Given the description of an element on the screen output the (x, y) to click on. 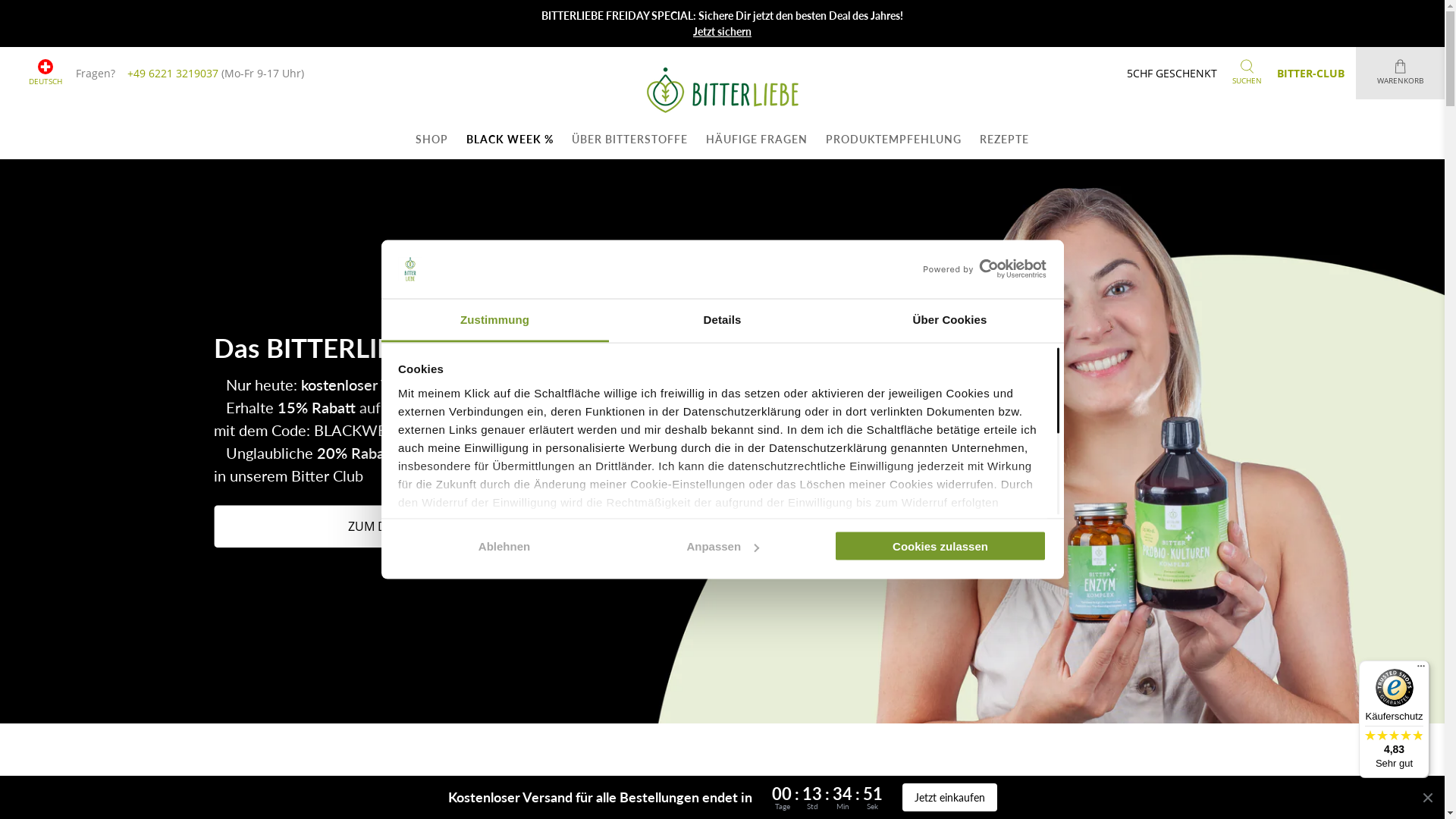
BitterLiebe CH Element type: hover (721, 89)
Cookies zulassen Element type: text (940, 545)
Anpassen Element type: text (721, 545)
PRODUKTEMPFEHLUNG Element type: text (893, 139)
BITTER-CLUB Element type: text (1310, 73)
SUCHEN Element type: text (1246, 73)
Transparenzdokument Element type: text (930, 611)
BLACK WEEK % Element type: text (509, 139)
ZUM DEAL Element type: text (376, 526)
SHOP Element type: text (431, 139)
Ablehnen Element type: text (504, 545)
DEUTSCH Element type: text (45, 73)
Jetzt sichern Element type: text (722, 31)
Jetzt einkaufen Element type: text (949, 797)
+49 6221 3219037 Element type: text (172, 72)
REZEPTE Element type: text (1004, 139)
Zustimmung Element type: text (494, 320)
Details Element type: text (721, 320)
WARENKORB Element type: text (1399, 73)
